Given the description of an element on the screen output the (x, y) to click on. 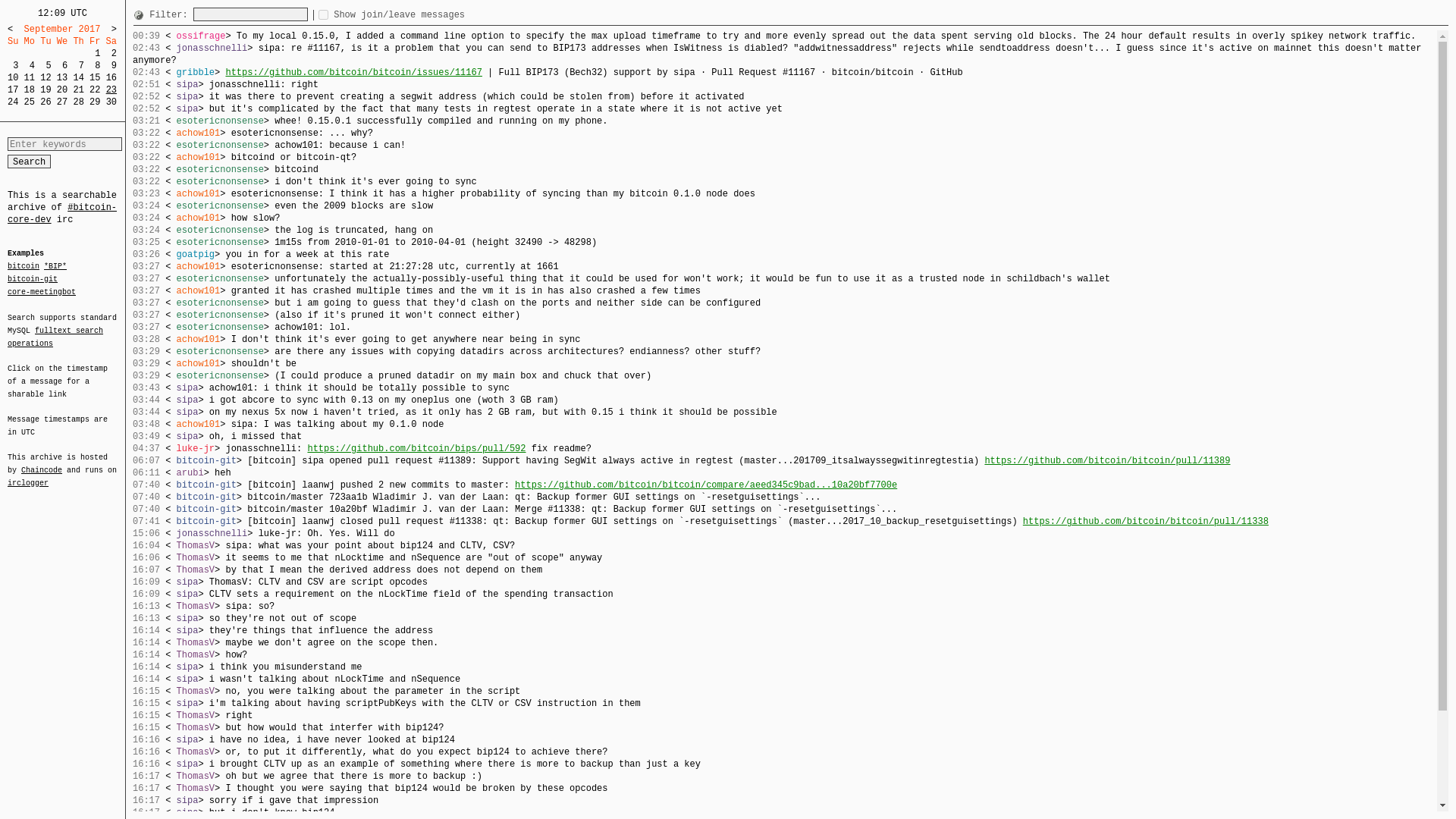
17 (12, 90)
Chaincode (41, 470)
16 (111, 77)
fulltext search operations (55, 337)
13 (61, 77)
bitcoin (23, 266)
26 (45, 102)
10 (12, 77)
29 (94, 102)
15 (94, 77)
